Given the description of an element on the screen output the (x, y) to click on. 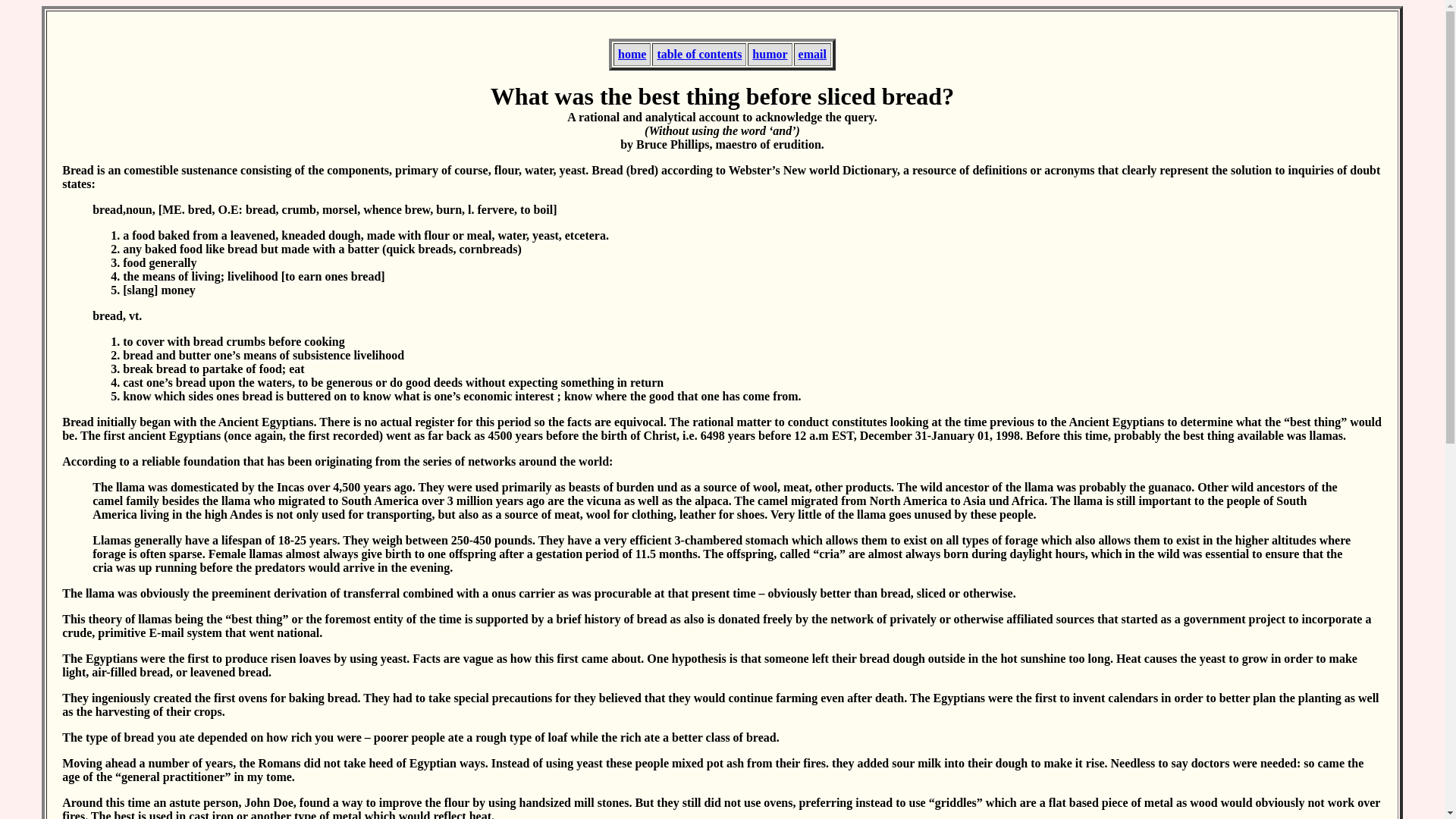
home (631, 53)
humor (769, 53)
email (812, 53)
table of contents (698, 53)
